Given the description of an element on the screen output the (x, y) to click on. 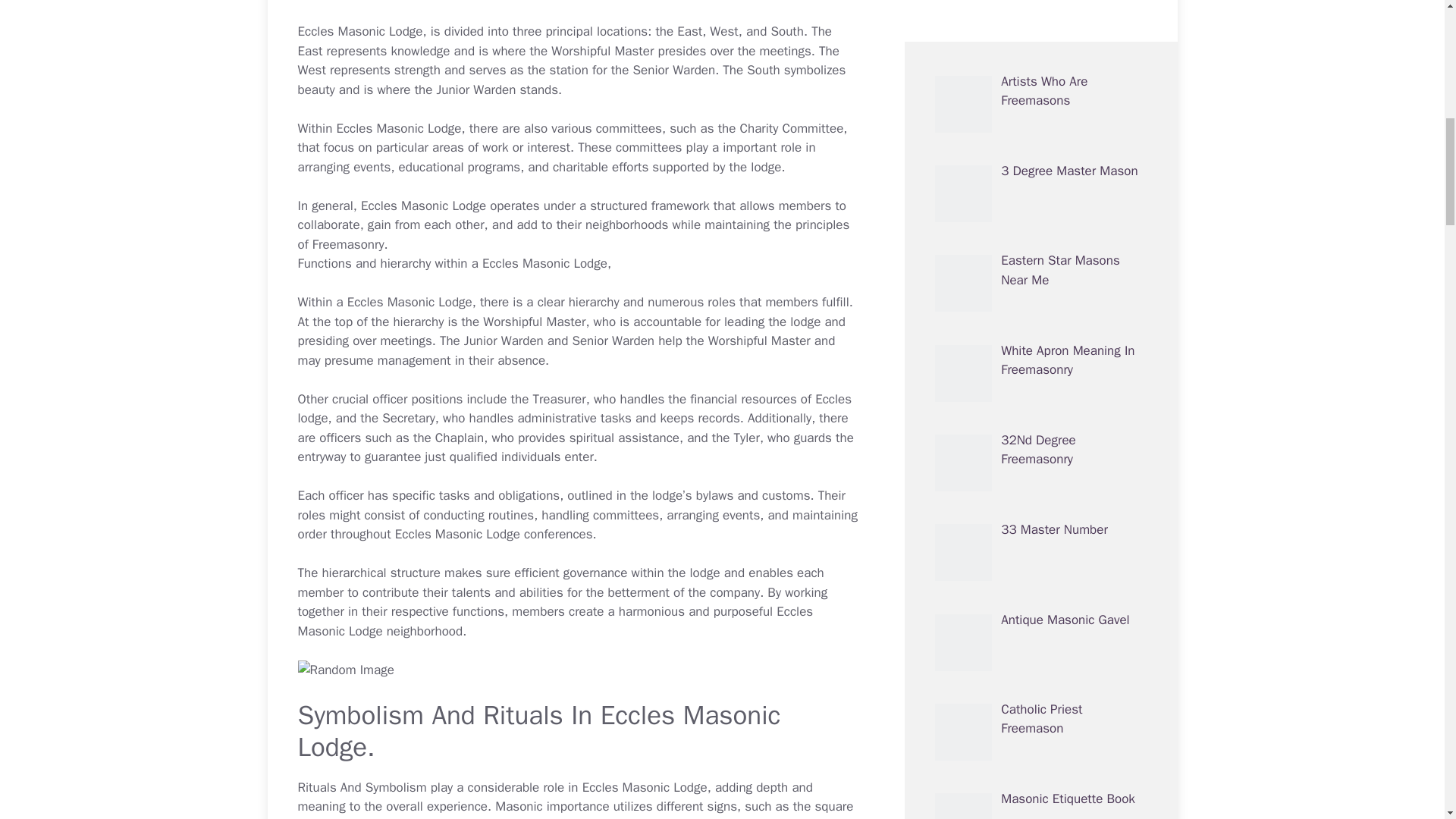
Freemasonry Rites Of Passage (1061, 191)
Freemasonry Museum (1063, 451)
Masonic Etiquette Book (1068, 91)
What Does A 32Nd Degree Mason Mean (1059, 550)
Grand Master Mason (1060, 720)
Scroll back to top (1406, 720)
Masonic Order Of Athelstan (1050, 810)
Catholic Priest Freemason (1041, 15)
Is An Entered Apprentice Considered A Mason (1070, 640)
Masonic Charitable Trust (1071, 360)
Mason Apron Meaning (1063, 271)
